Given the description of an element on the screen output the (x, y) to click on. 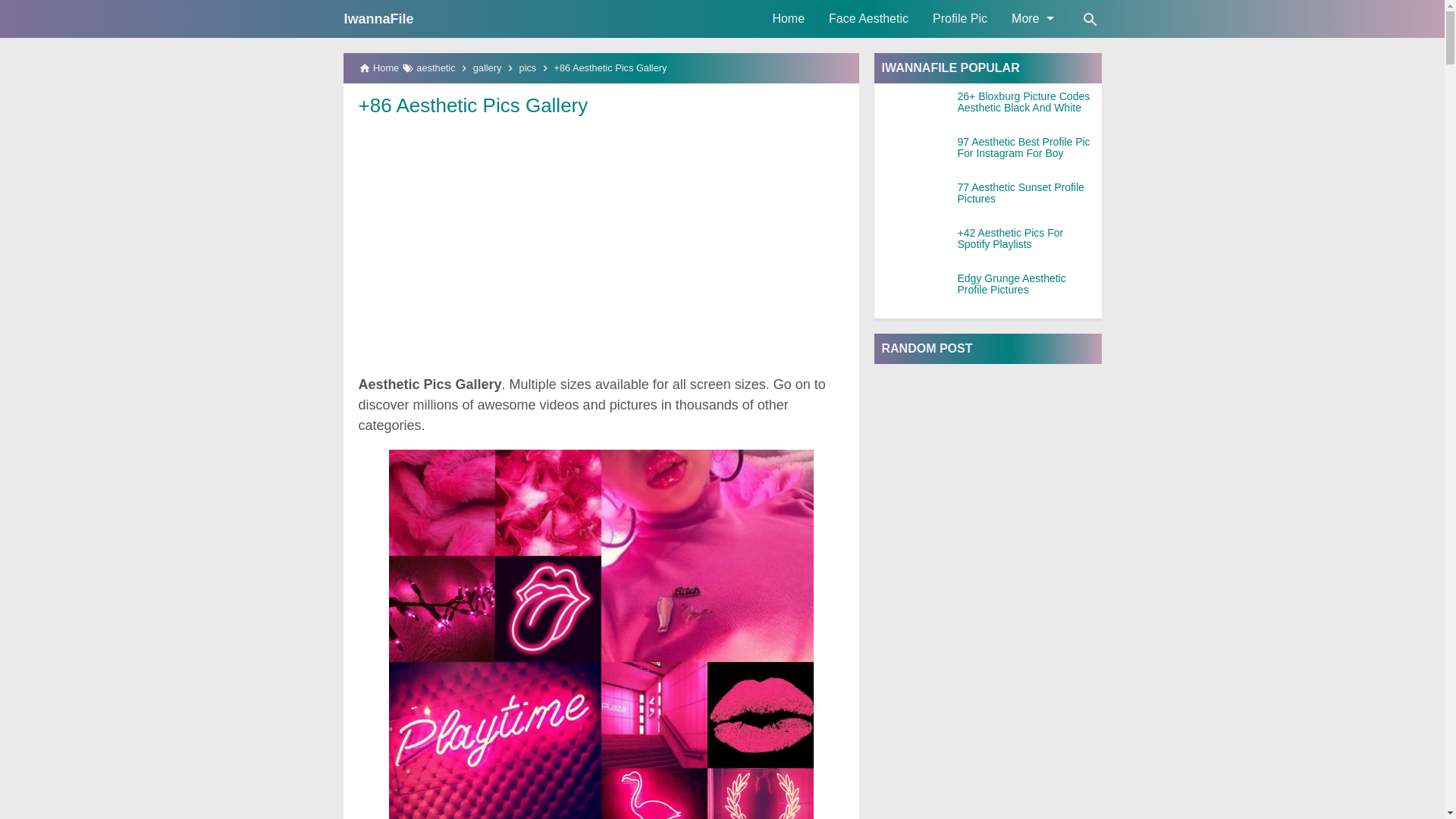
aesthetic (435, 68)
Advertisement (600, 233)
gallery (487, 68)
Edgy Grunge Aesthetic Profile Pictures (1028, 284)
Face Aesthetic (868, 18)
77 Aesthetic Sunset Profile Pictures (1028, 193)
gallery (487, 68)
Profile Pic (959, 18)
Home (788, 18)
97 Aesthetic Best Profile Pic For Instagram For Boy (1028, 147)
IwannaFile (378, 18)
Face Aesthetic (868, 18)
IwannaFile (378, 18)
Home (788, 18)
aesthetic (435, 68)
